Given the description of an element on the screen output the (x, y) to click on. 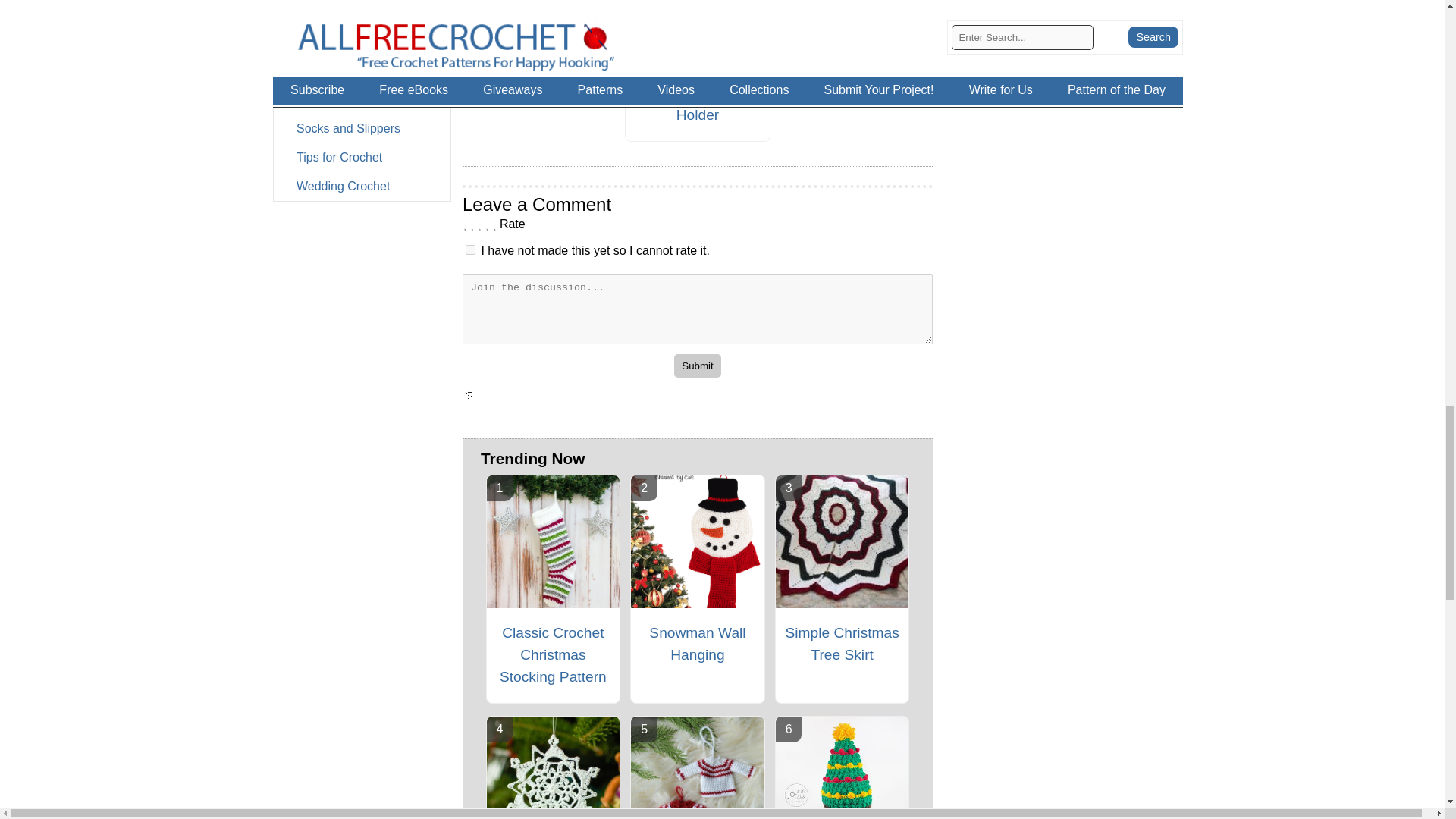
Submit (697, 365)
1 (470, 249)
